Given the description of an element on the screen output the (x, y) to click on. 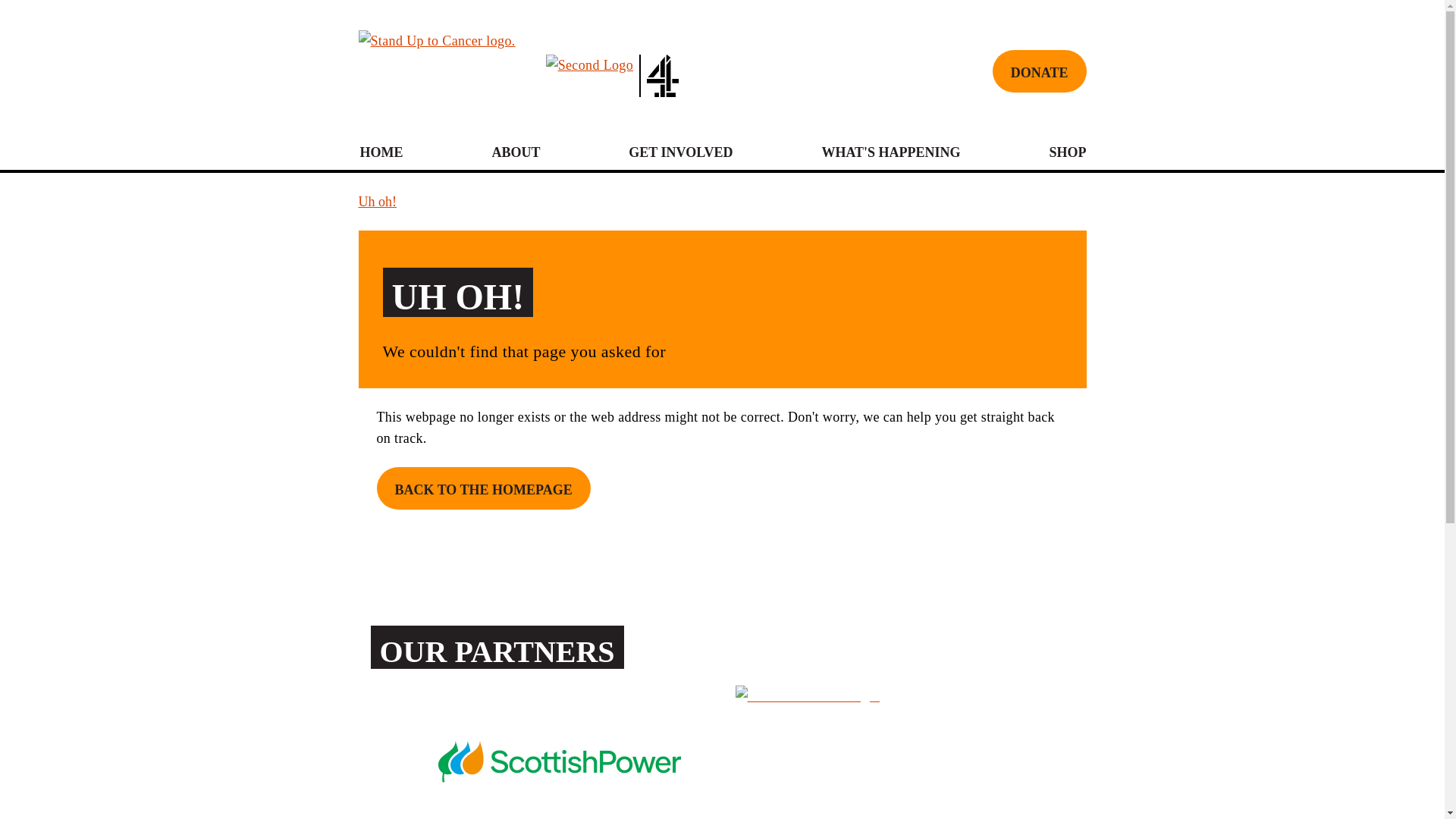
GET INVOLVED (680, 151)
Uh oh! (377, 201)
partner-scottishpower (559, 752)
WHAT'S HAPPENING (890, 151)
DONATE (1039, 70)
ABOUT (516, 151)
Stand Up to Cancer logo. (436, 71)
HOME (381, 151)
BACK TO THE HOMEPAGE (482, 487)
partner-ticketmaster (887, 752)
